Given the description of an element on the screen output the (x, y) to click on. 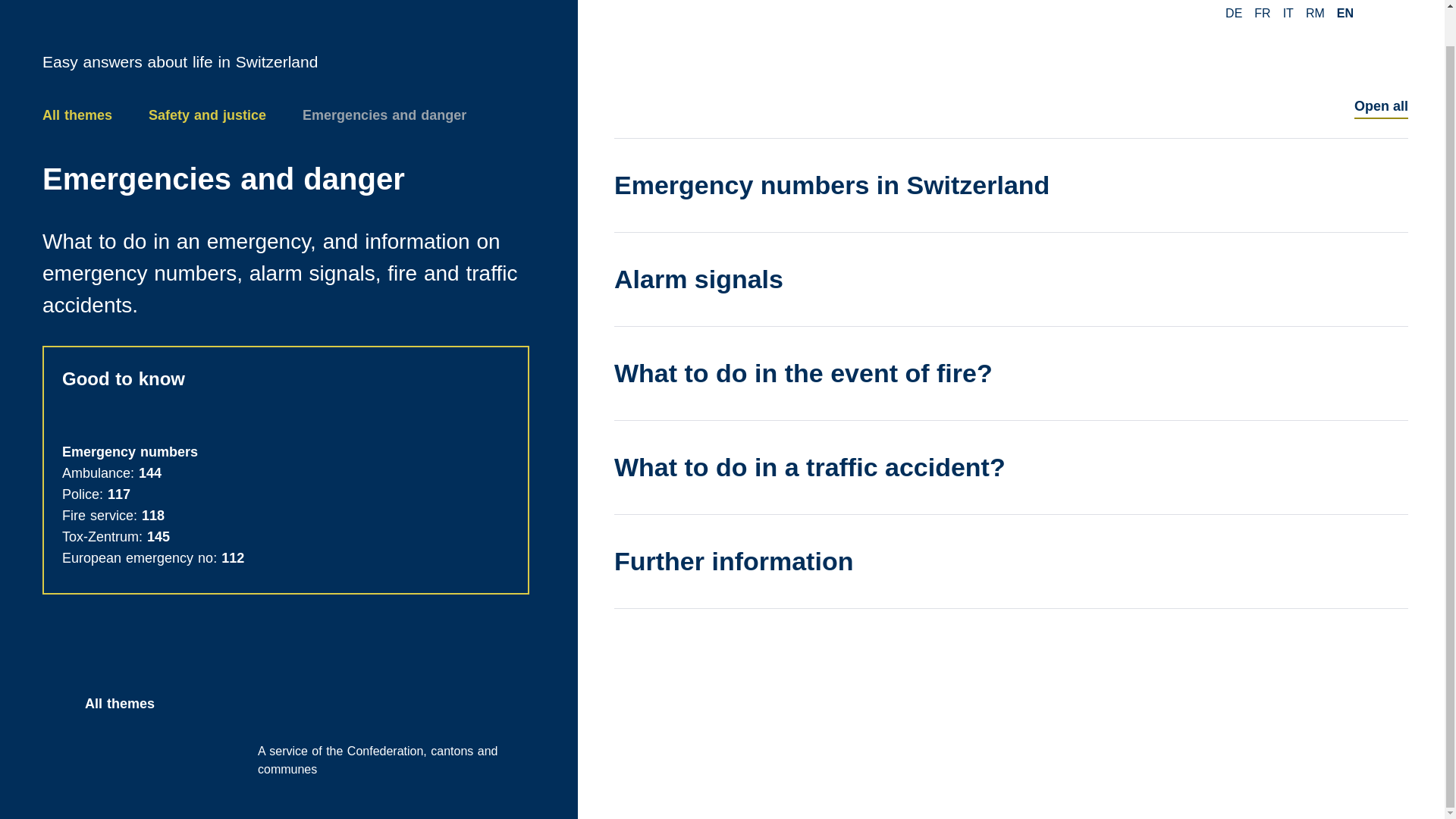
Safety and justice (207, 115)
RM (1315, 13)
Easy answers about life in Switzerland (285, 36)
Further information (1010, 561)
Open all (1380, 106)
Emergency numbers in Switzerland (1010, 185)
IT (1288, 13)
Back to home ch.ch (285, 36)
EN (1345, 13)
What to do in a traffic accident? (1010, 466)
Alarm signals (1010, 279)
All themes (77, 115)
What to do in the event of fire? (1010, 373)
FR (1261, 13)
All themes (285, 703)
